Given the description of an element on the screen output the (x, y) to click on. 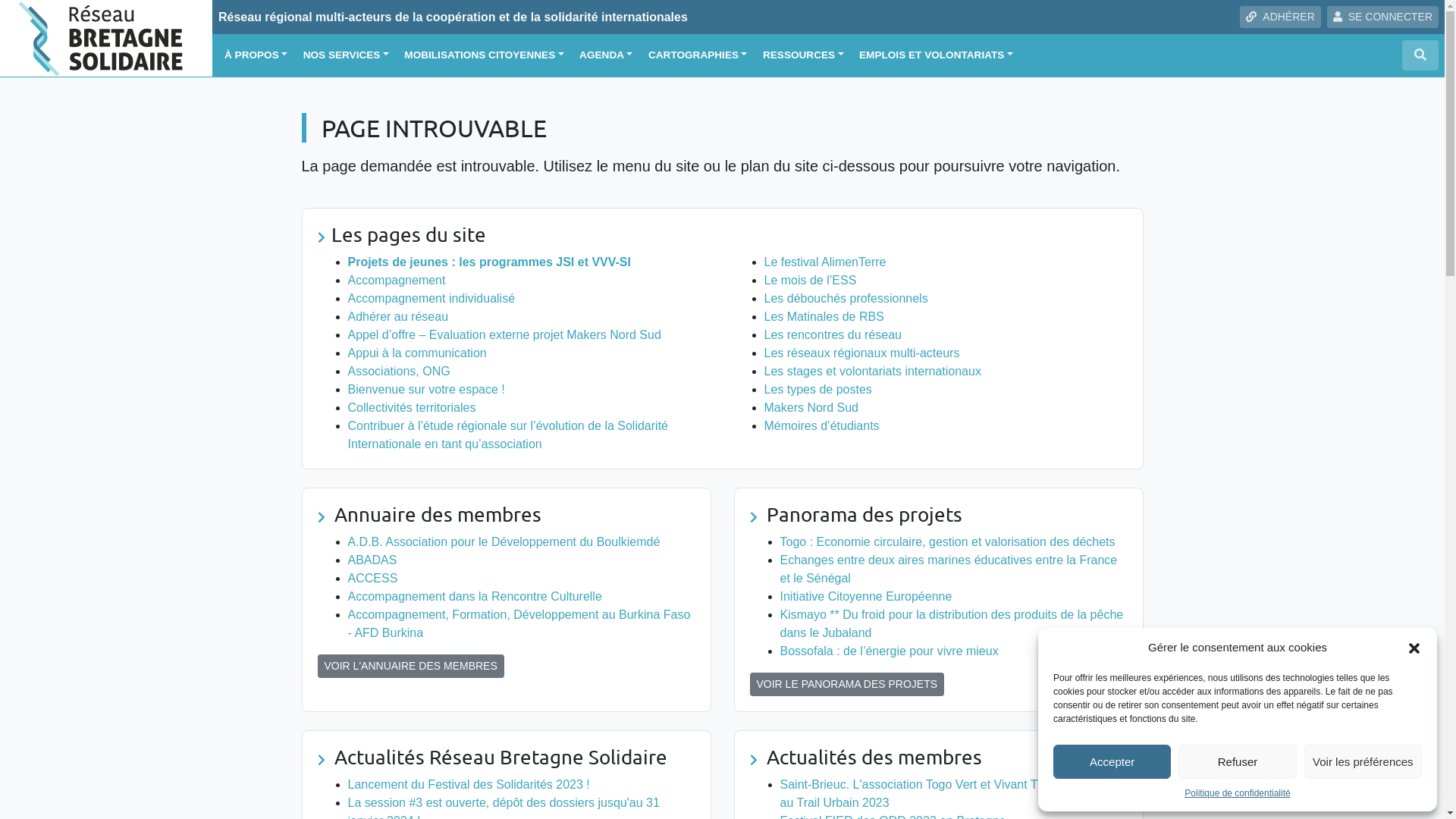
Accompagnement dans la Rencontre Culturelle Element type: text (474, 595)
ACCESS Element type: text (372, 577)
NOS SERVICES Element type: text (346, 55)
CARTOGRAPHIES Element type: text (697, 55)
VOIR L'ANNUAIRE DES MEMBRES Element type: text (409, 665)
VOIR LE PANORAMA DES PROJETS Element type: text (846, 684)
EMPLOIS ET VOLONTARIATS Element type: text (936, 55)
RESSOURCES Element type: text (803, 55)
AGENDA Element type: text (605, 55)
MOBILISATIONS CITOYENNES Element type: text (483, 55)
Les types de postes Element type: text (818, 388)
Refuser Element type: text (1236, 761)
Associations, ONG Element type: text (398, 370)
Le festival AlimenTerre Element type: text (825, 261)
Les stages et volontariats internationaux Element type: text (872, 370)
Projets de jeunes : les programmes JSI et VVV-SI Element type: text (488, 261)
Accompagnement Element type: text (396, 279)
ABADAS Element type: text (371, 559)
Les Matinales de RBS Element type: text (824, 316)
Makers Nord Sud Element type: text (811, 407)
SE CONNECTER Element type: text (1382, 17)
Bienvenue sur votre espace ! Element type: text (425, 388)
Accepter Element type: text (1111, 761)
